Given the description of an element on the screen output the (x, y) to click on. 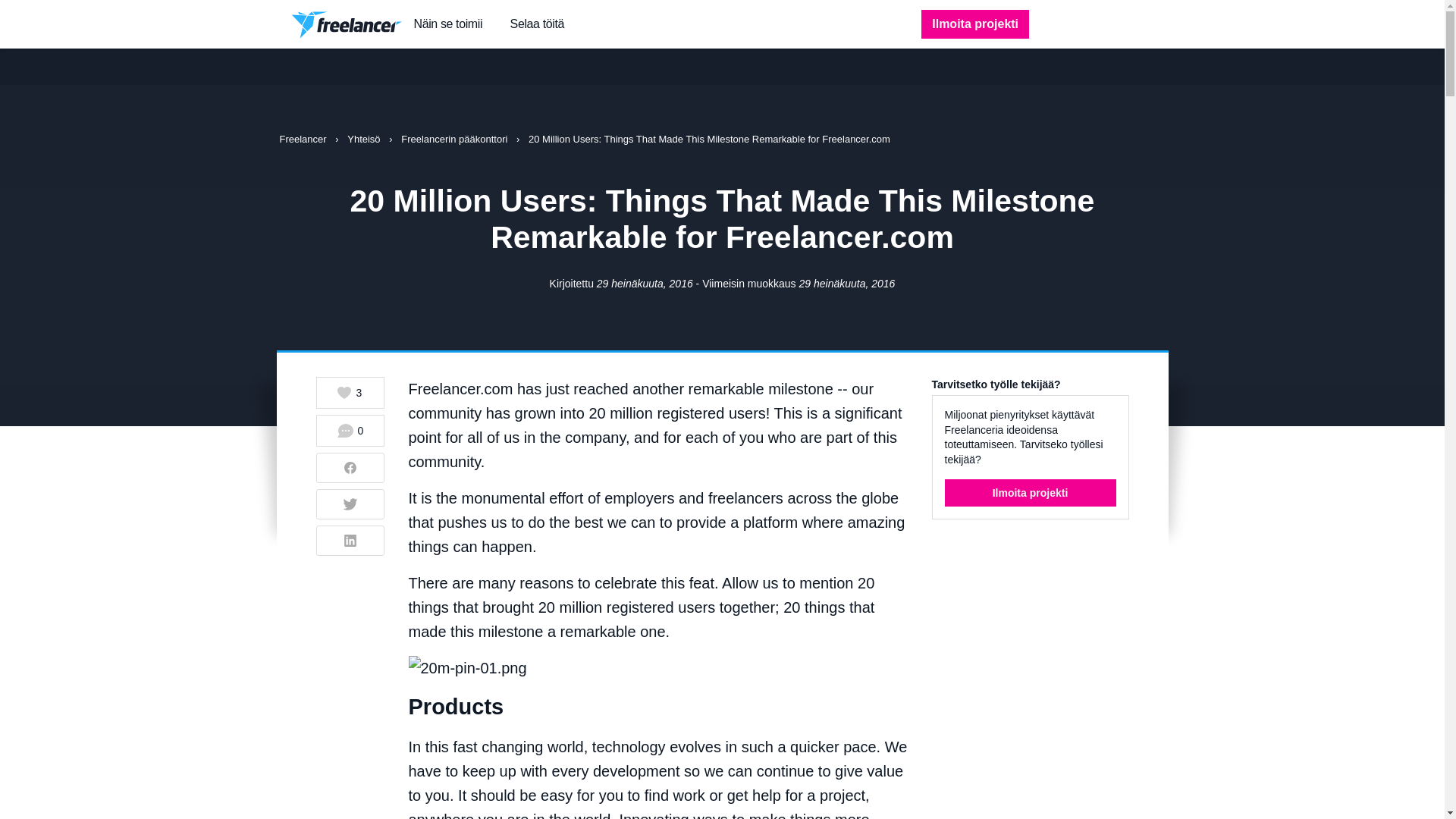
0 (349, 430)
Ilmoita projekti (975, 23)
Jaa Facebookissa (349, 467)
Freelancer (304, 138)
